Given the description of an element on the screen output the (x, y) to click on. 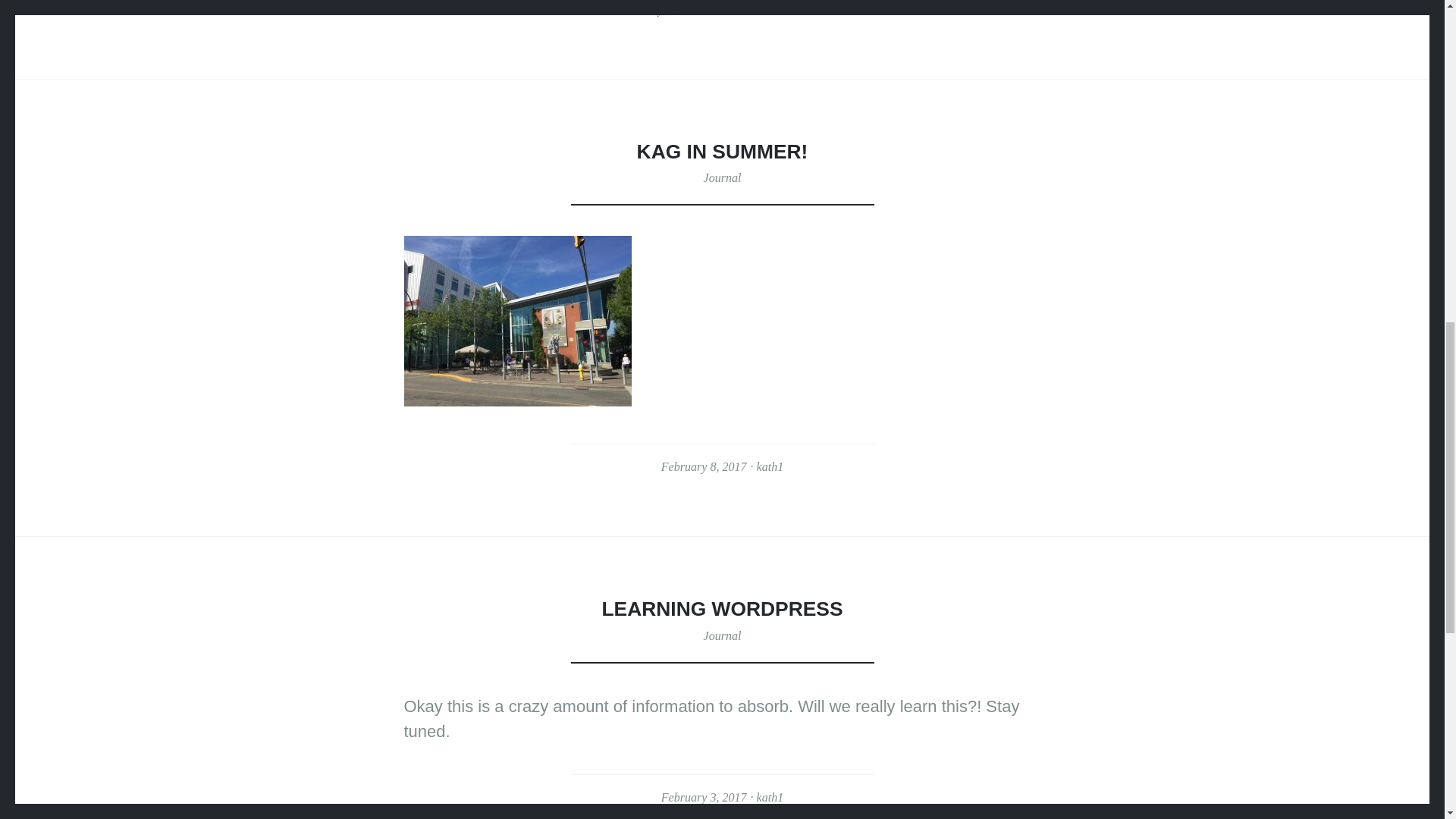
Journal (722, 177)
KAG IN SUMMER! (722, 151)
LEARNING WORDPRESS (722, 608)
1 Comment (799, 9)
Journal (722, 635)
kath1 (770, 797)
kath1 (770, 466)
February 3, 2017 (703, 797)
February 26, 2017 (663, 9)
sheridan (740, 9)
